Given the description of an element on the screen output the (x, y) to click on. 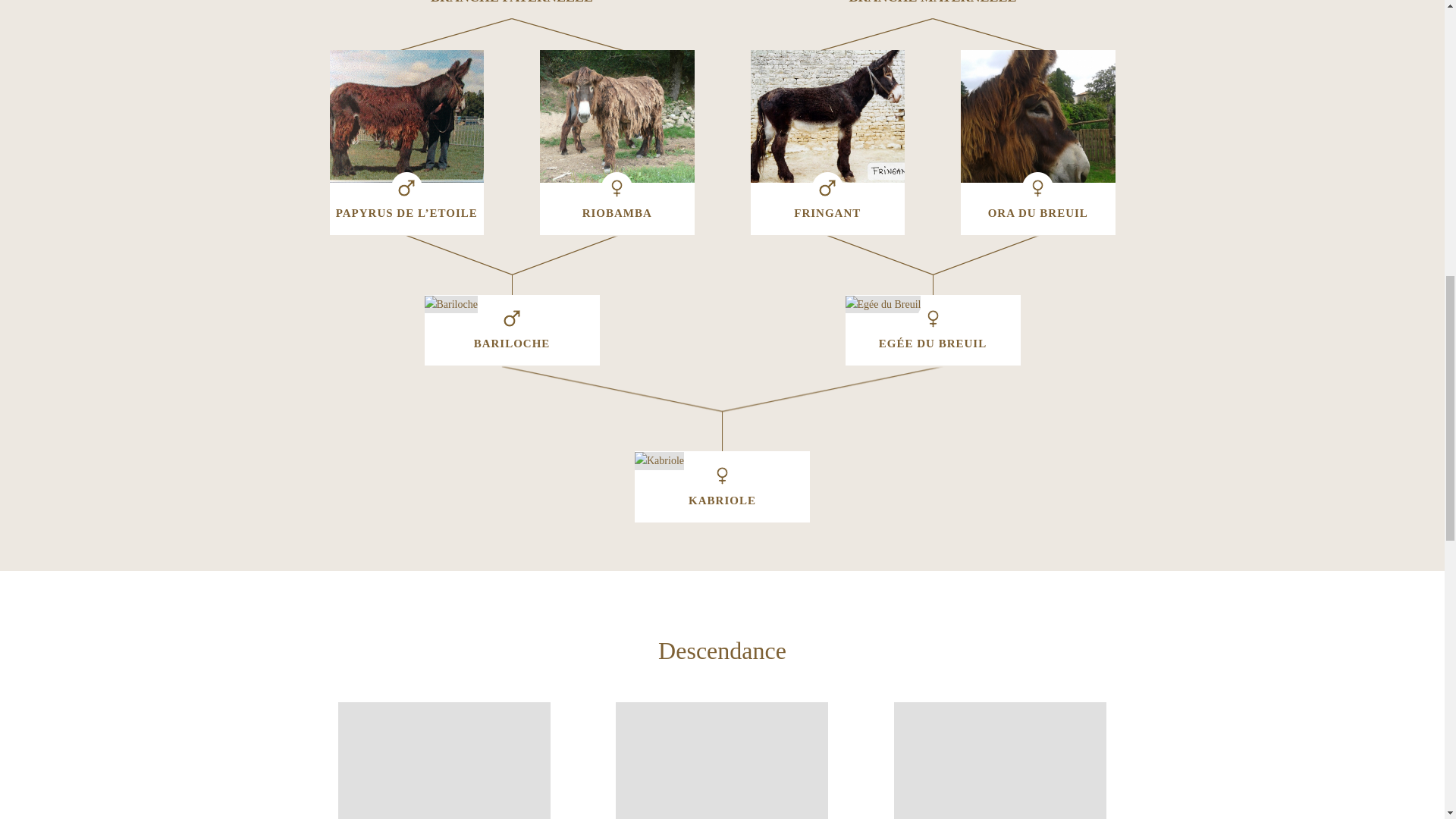
Riobamba (617, 115)
Fringant (828, 115)
